Given the description of an element on the screen output the (x, y) to click on. 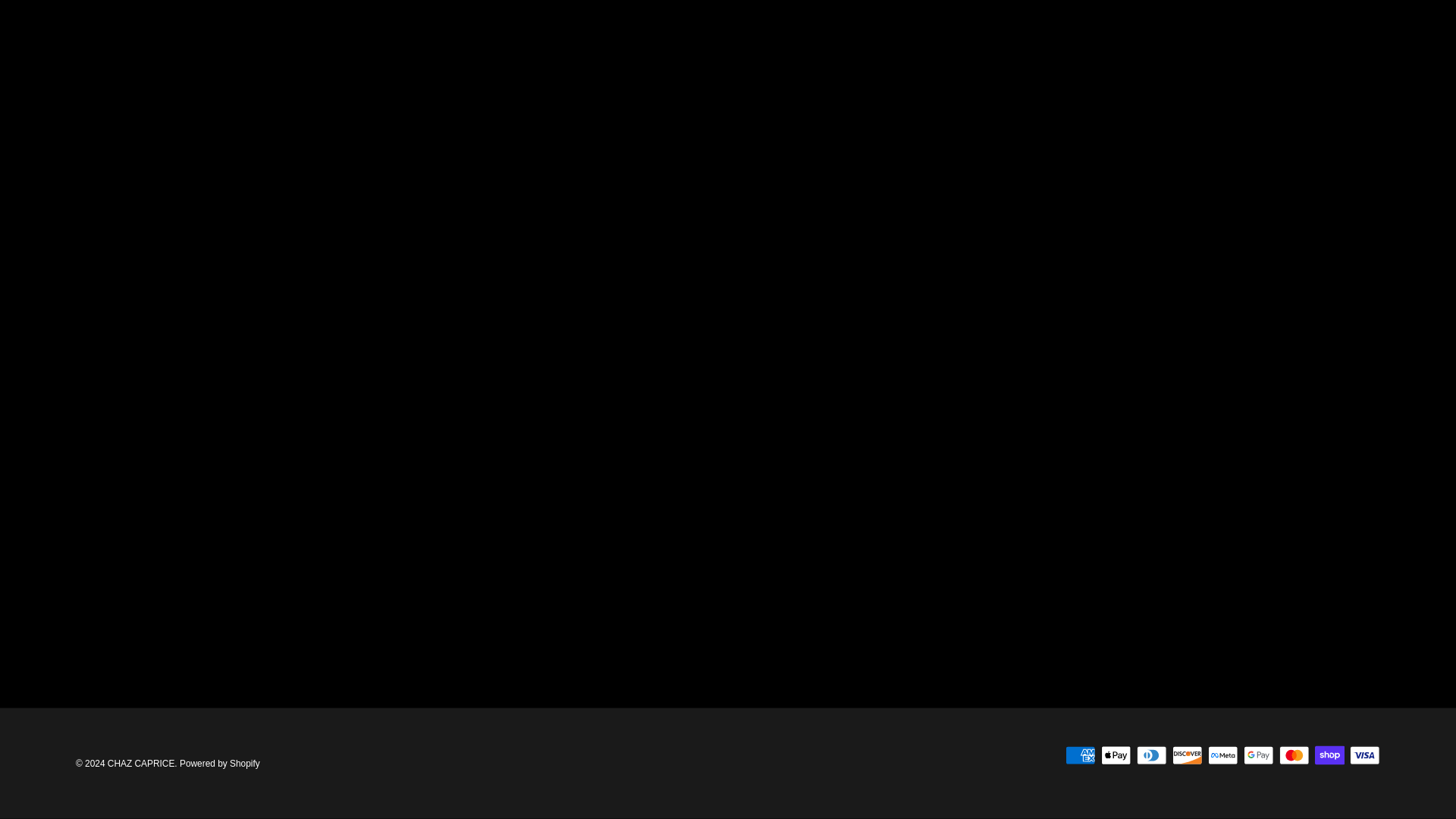
American Express (1079, 755)
Visa (1364, 755)
Discover (1187, 755)
CHAZ CAPRICE (140, 763)
Apple Pay (1115, 755)
Mastercard (1293, 755)
Powered by Shopify (219, 763)
Google Pay (1258, 755)
Shop Pay (1329, 755)
Diners Club (1151, 755)
Meta Pay (1222, 755)
